Given the description of an element on the screen output the (x, y) to click on. 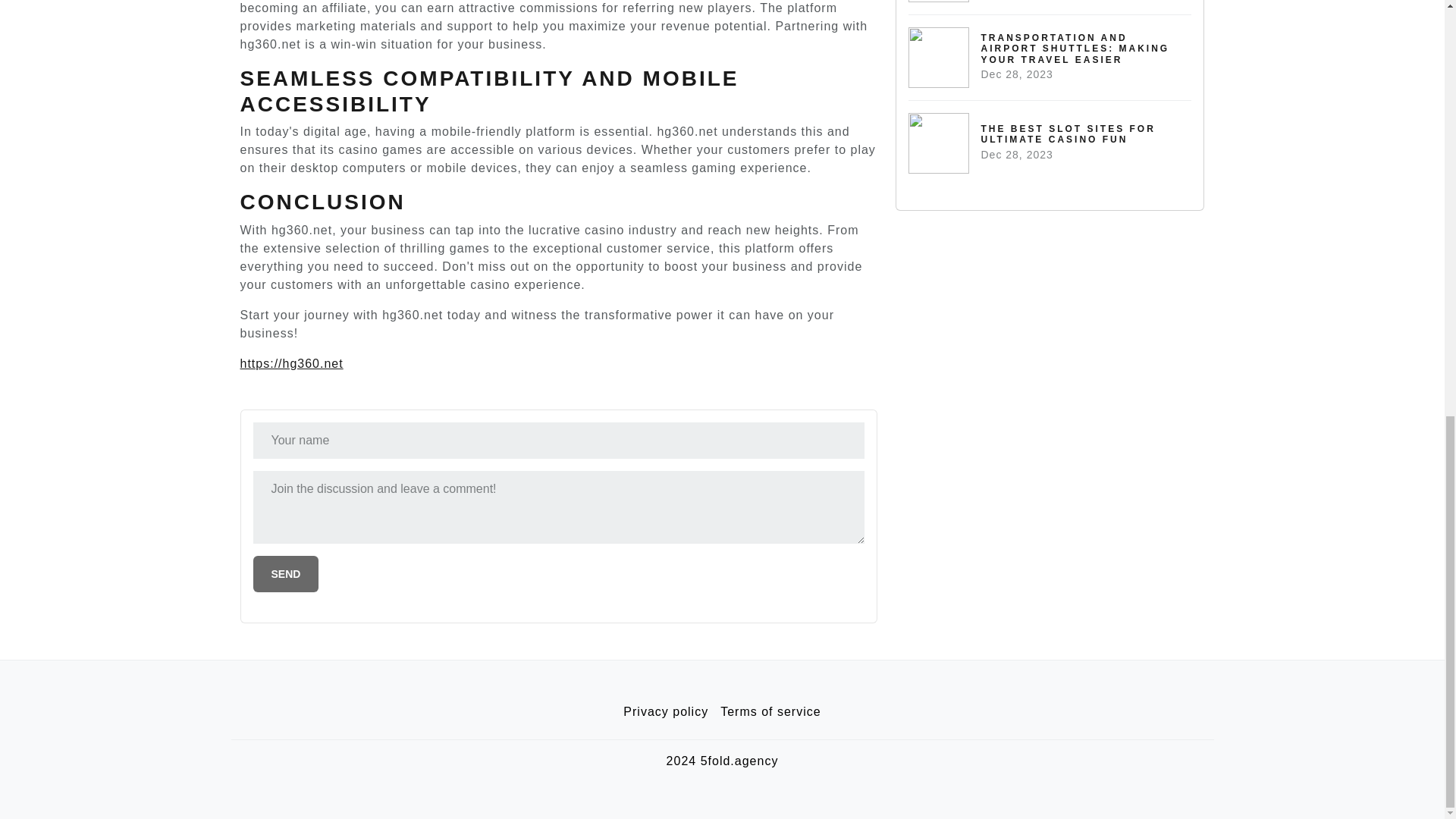
Terms of service (1050, 142)
Privacy policy (770, 711)
Send (665, 711)
Send (285, 574)
